Given the description of an element on the screen output the (x, y) to click on. 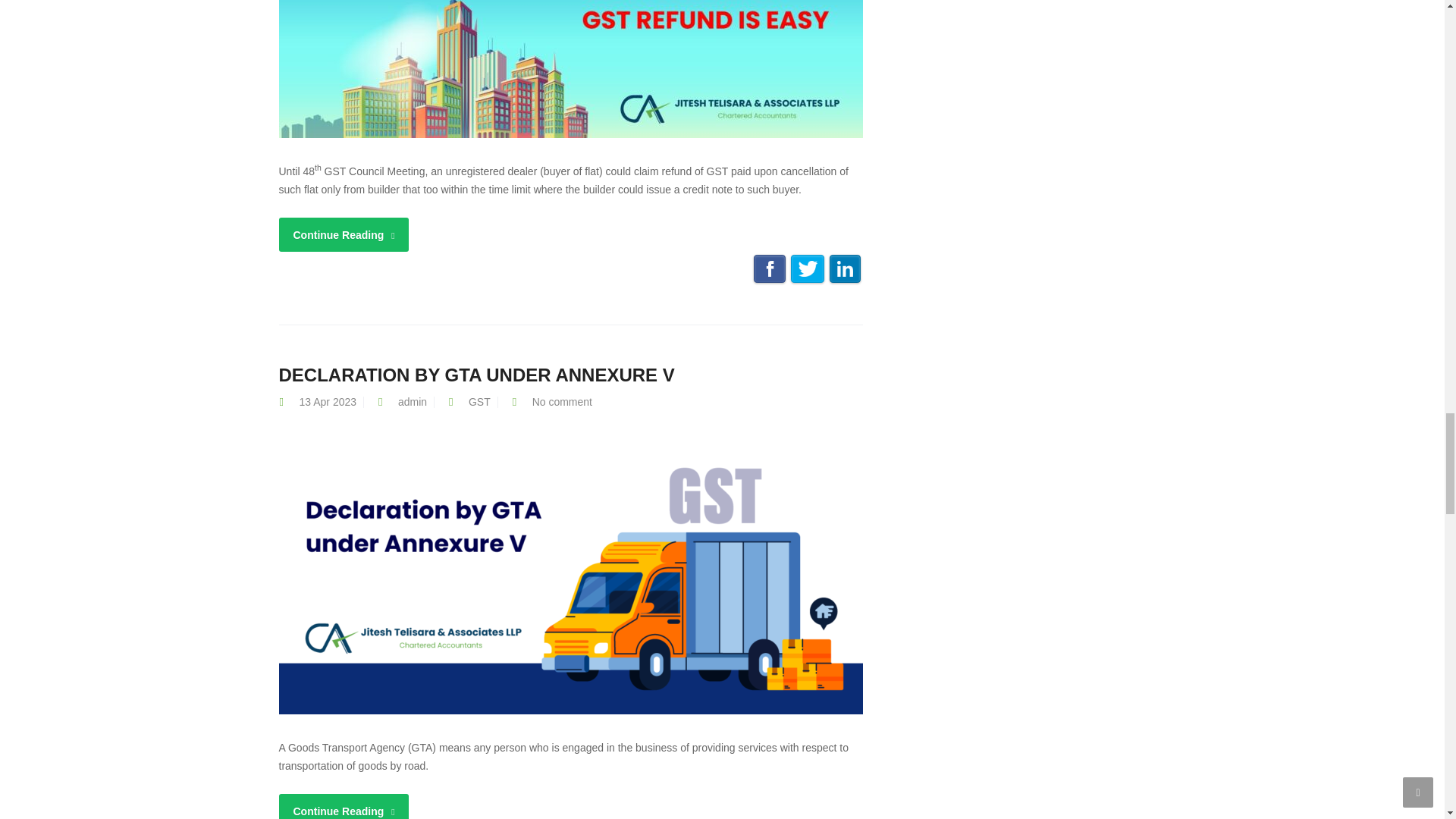
View all posts by admin (411, 401)
